Given the description of an element on the screen output the (x, y) to click on. 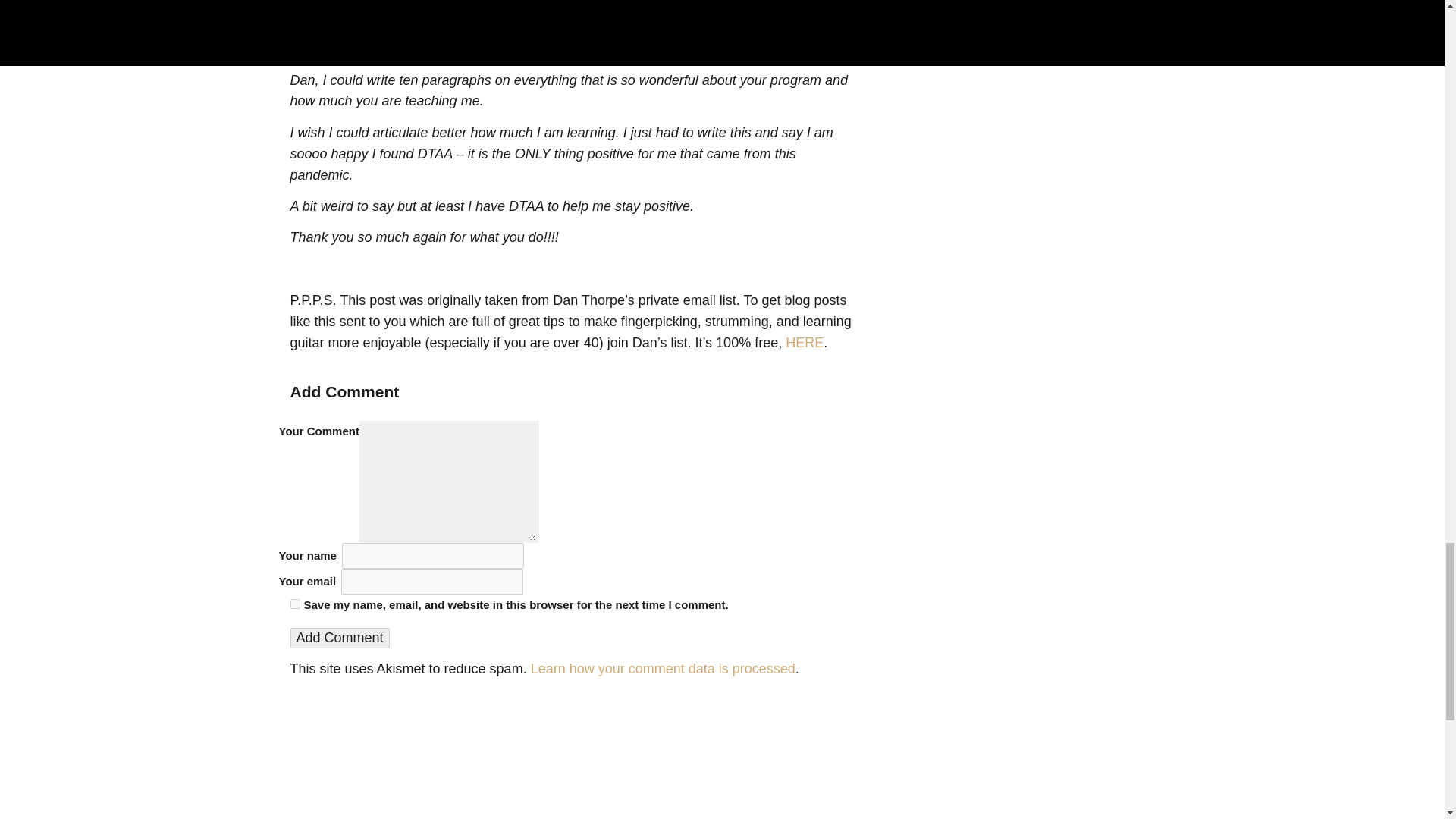
HERE (805, 342)
Add Comment (338, 638)
yes (294, 603)
Add Comment (338, 638)
